Given the description of an element on the screen output the (x, y) to click on. 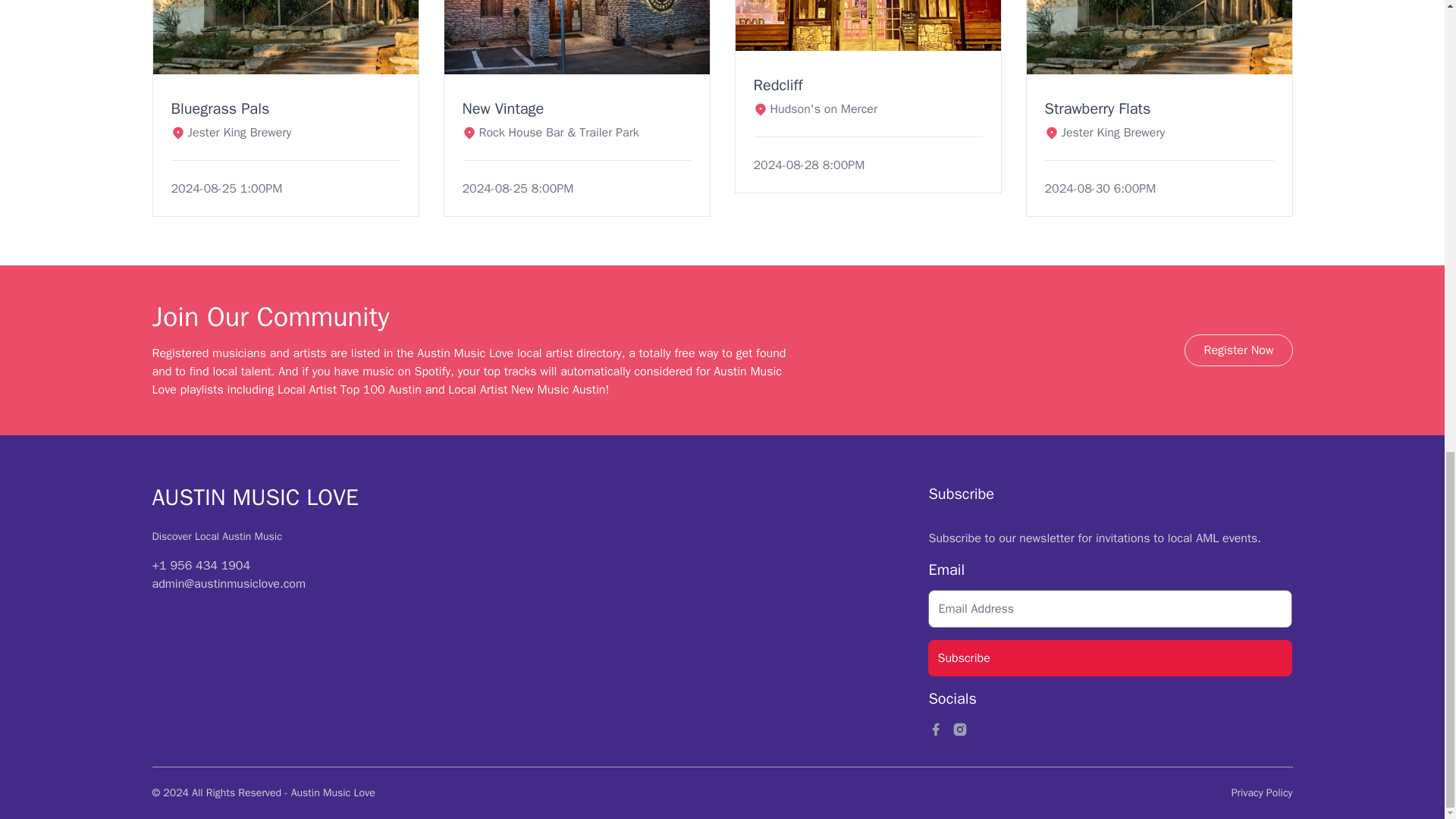
Redcliff (815, 85)
Register Now (1238, 350)
AUSTIN MUSIC LOVE (254, 497)
Strawberry Flats (1105, 108)
Bluegrass Pals (231, 108)
Subscribe (1110, 657)
New Vintage (551, 108)
Privacy Policy (1261, 792)
